Given the description of an element on the screen output the (x, y) to click on. 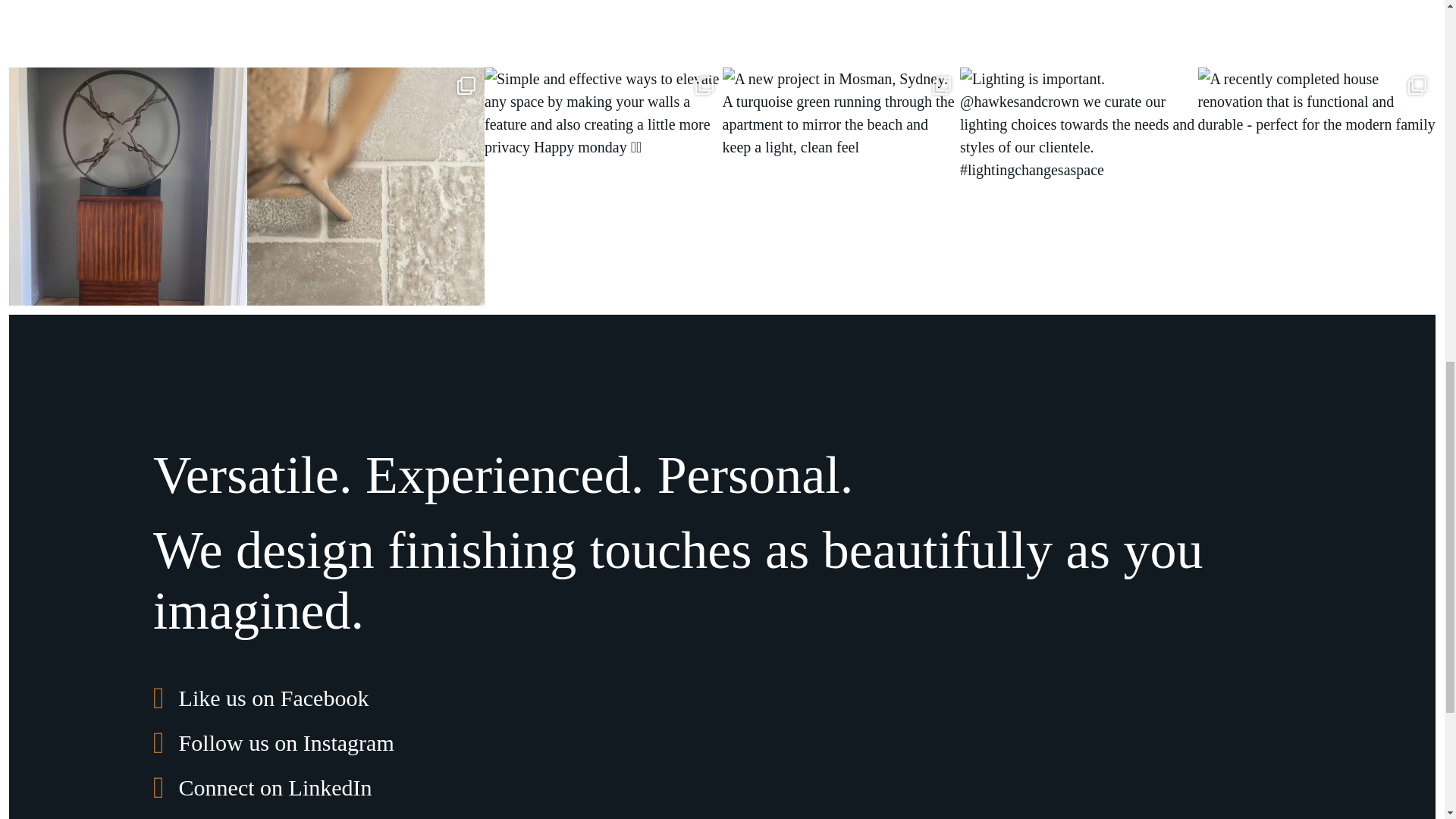
Like us on Facebook (260, 695)
Follow us on Instagram (273, 740)
Connect on LinkedIn (262, 785)
